Given the description of an element on the screen output the (x, y) to click on. 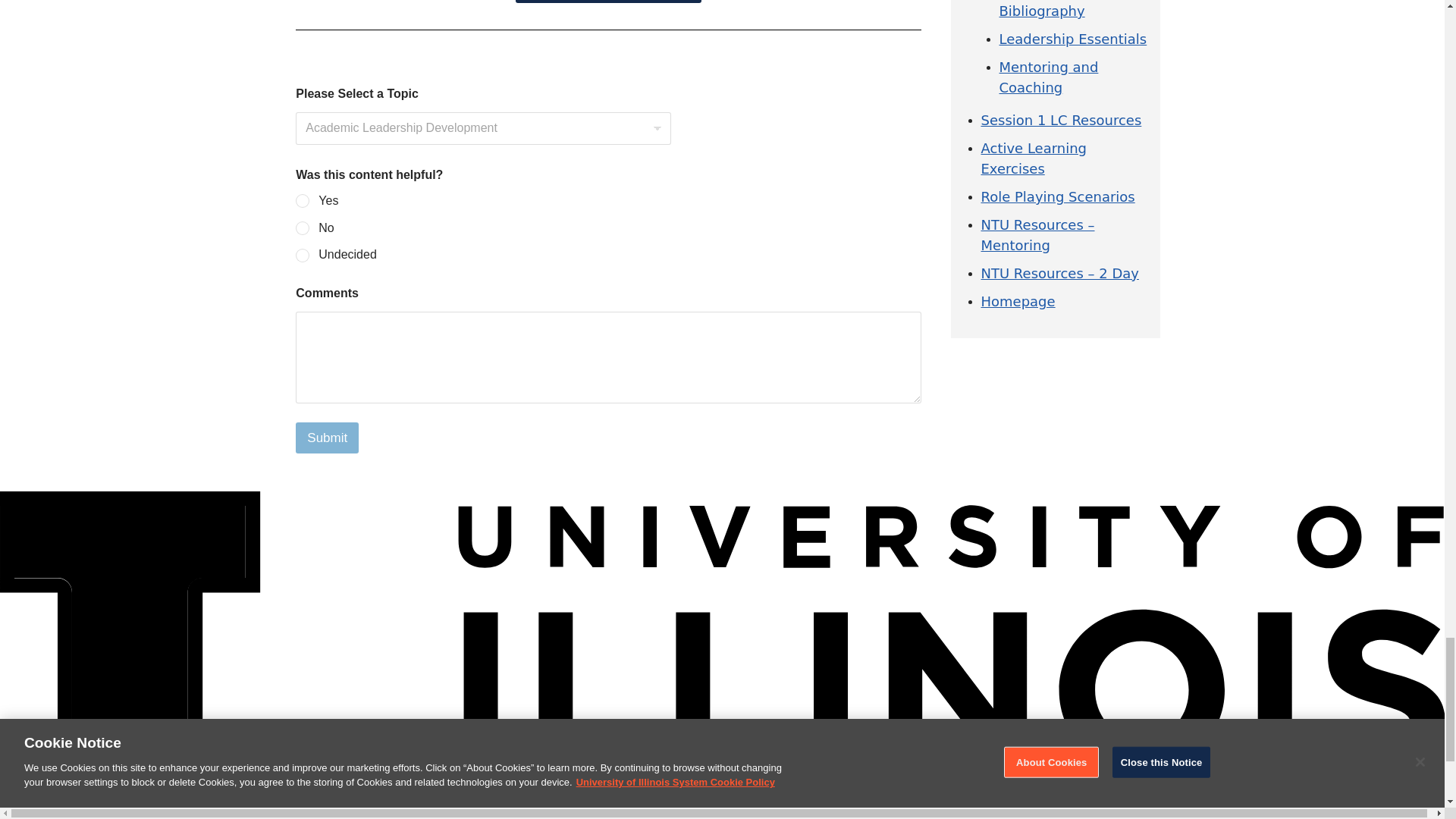
Undecided (302, 256)
Yes (302, 201)
No (302, 228)
